Given the description of an element on the screen output the (x, y) to click on. 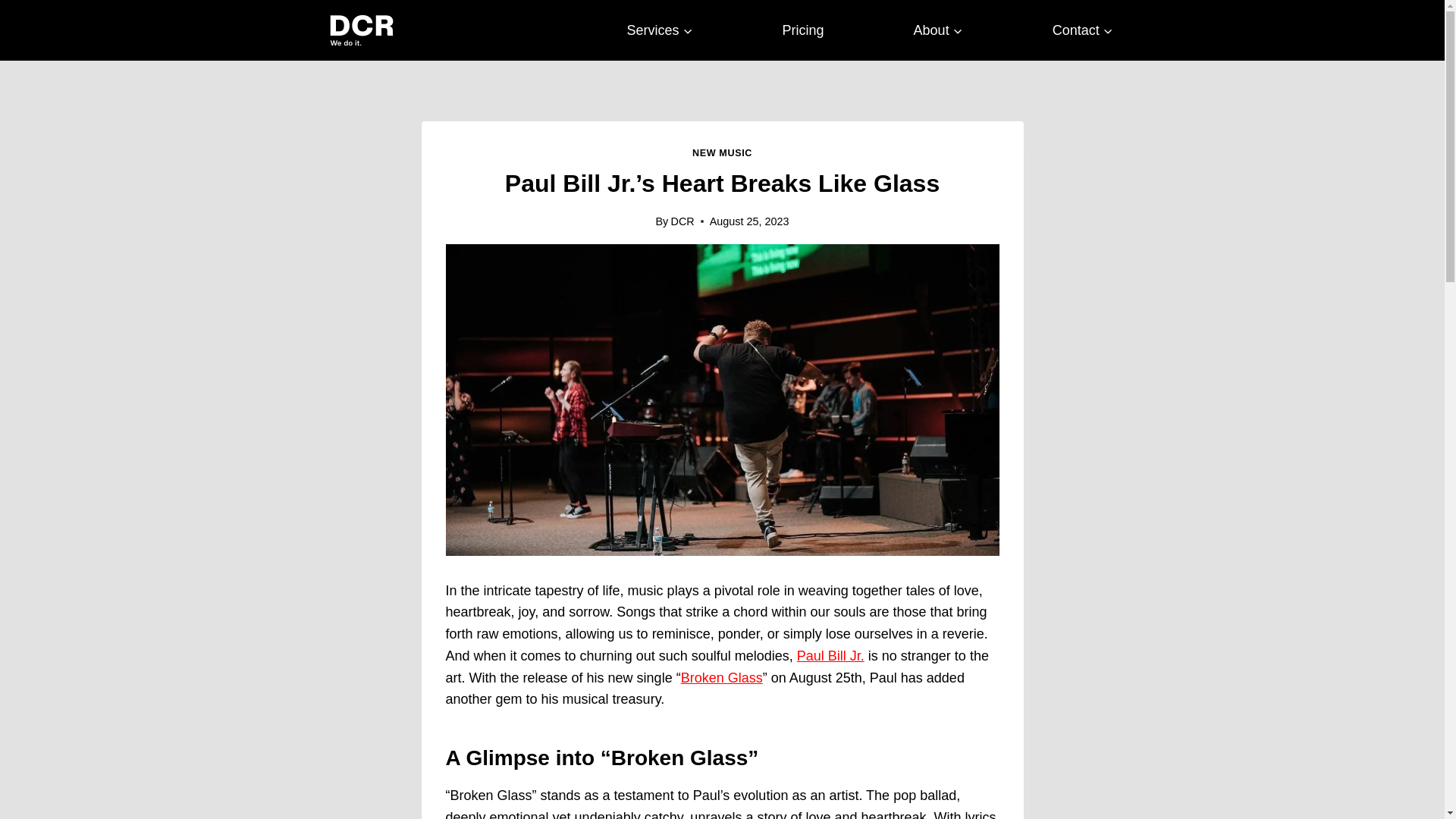
DCR (681, 221)
About (938, 30)
NEW MUSIC (722, 153)
Contact (1082, 30)
Services (659, 30)
Broken Glass (721, 677)
Pricing (803, 30)
Paul Bill Jr. (830, 655)
